Given the description of an element on the screen output the (x, y) to click on. 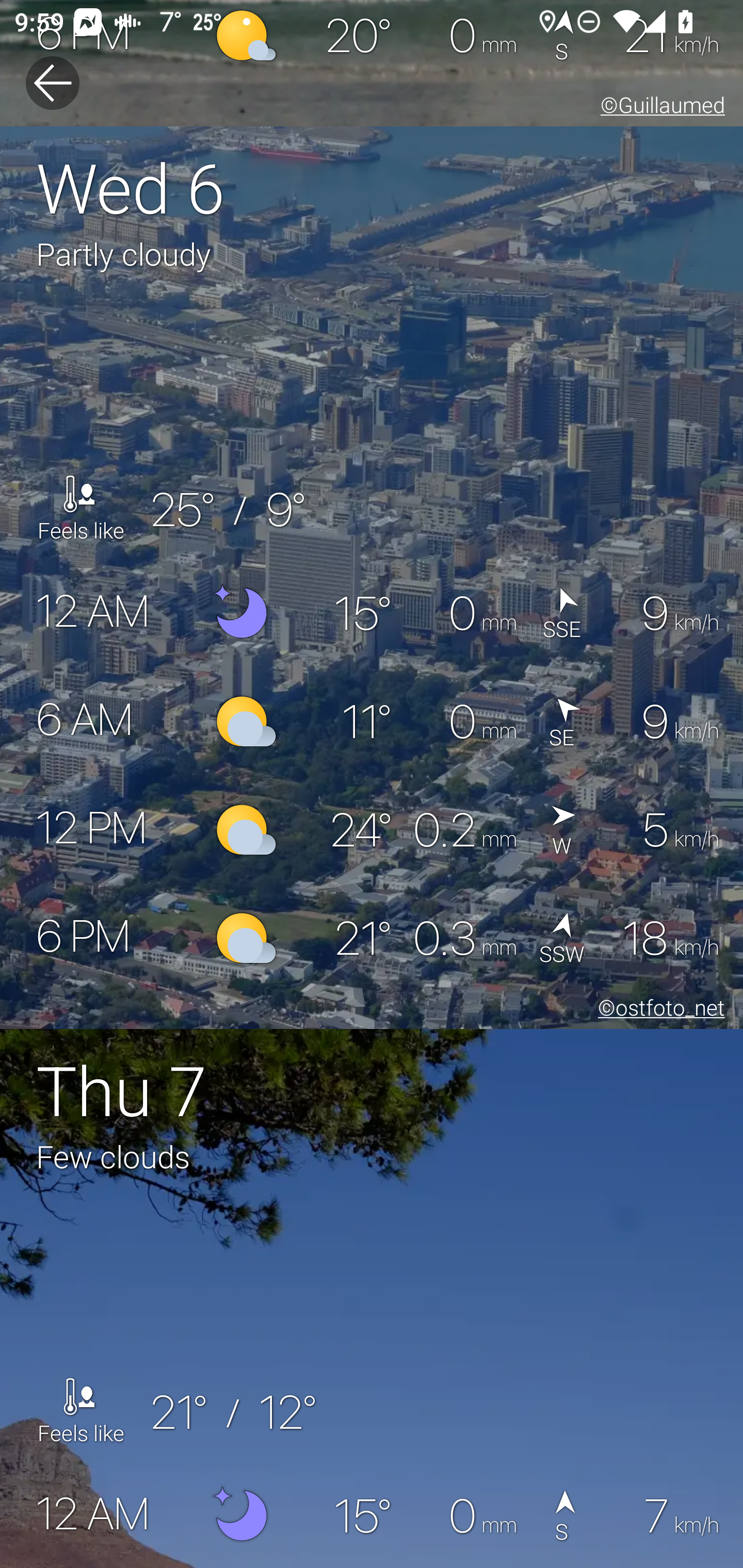
©Guillaumed (659, 108)
12 AM 15° 0 mm  SSE 9 km/h (371, 613)
6 AM 11° 0 mm  SE 9 km/h (371, 721)
12 PM 24° 0.2 mm  W 5 km/h (371, 830)
6 PM 21° 0.3 mm  SSW 18 km/h (371, 938)
©ostfoto_net (657, 1010)
12 AM 15° 0 mm  S 7 km/h (371, 1514)
